Given the description of an element on the screen output the (x, y) to click on. 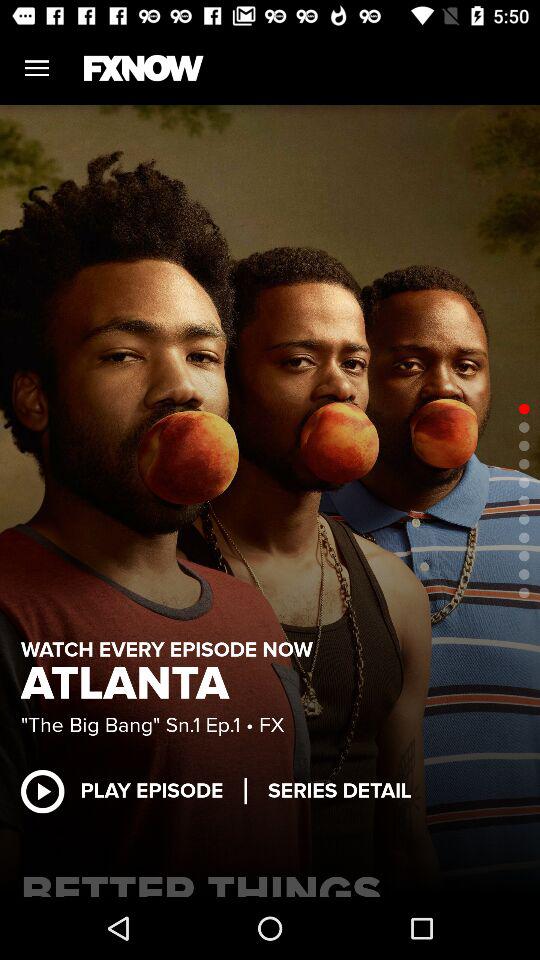
choose item above better things icon (339, 790)
